Given the description of an element on the screen output the (x, y) to click on. 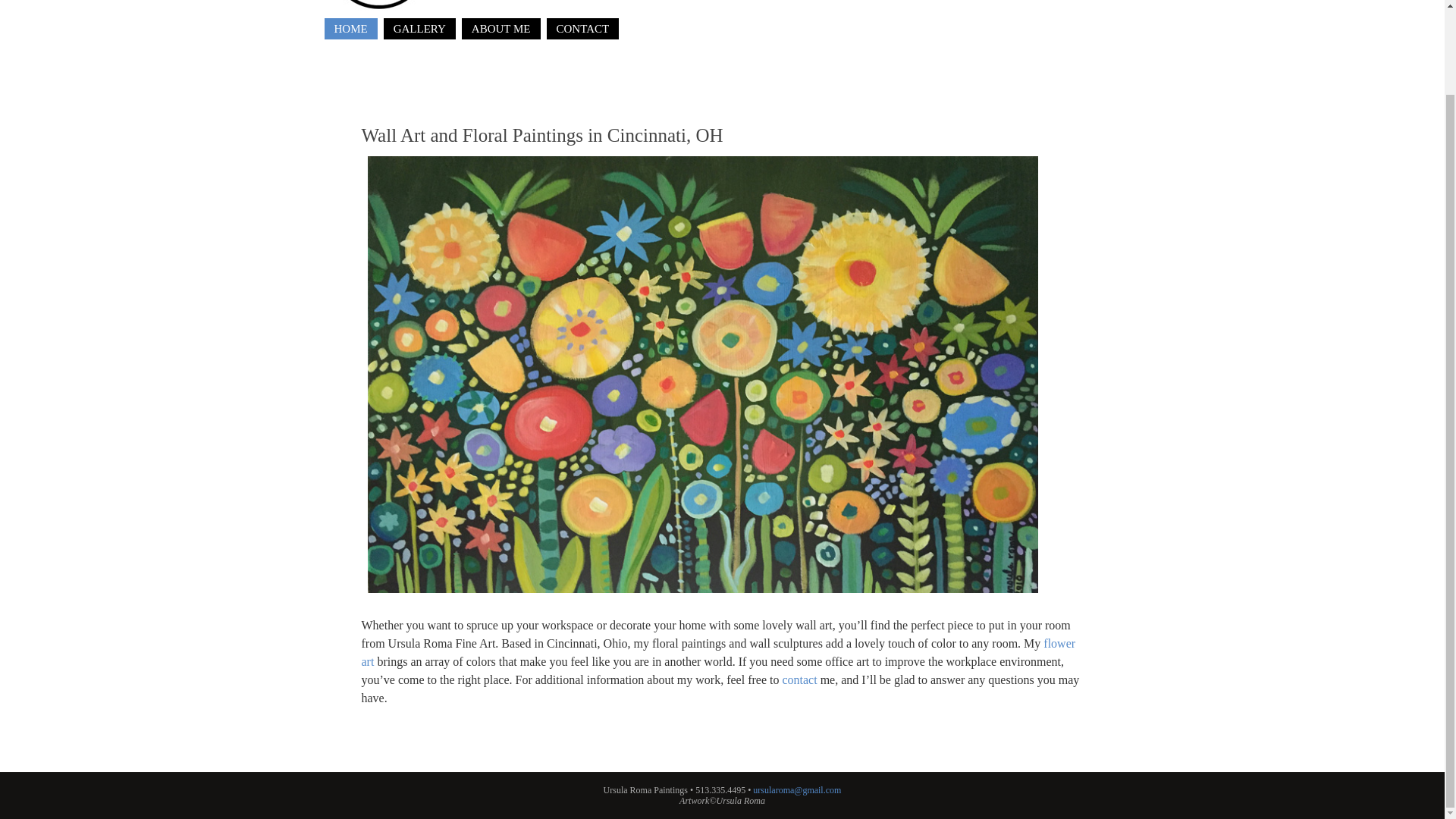
ABOUT ME (500, 28)
contact (798, 679)
CONTACT (582, 28)
GALLERY (419, 28)
flower art (718, 652)
HOME (350, 28)
